Given the description of an element on the screen output the (x, y) to click on. 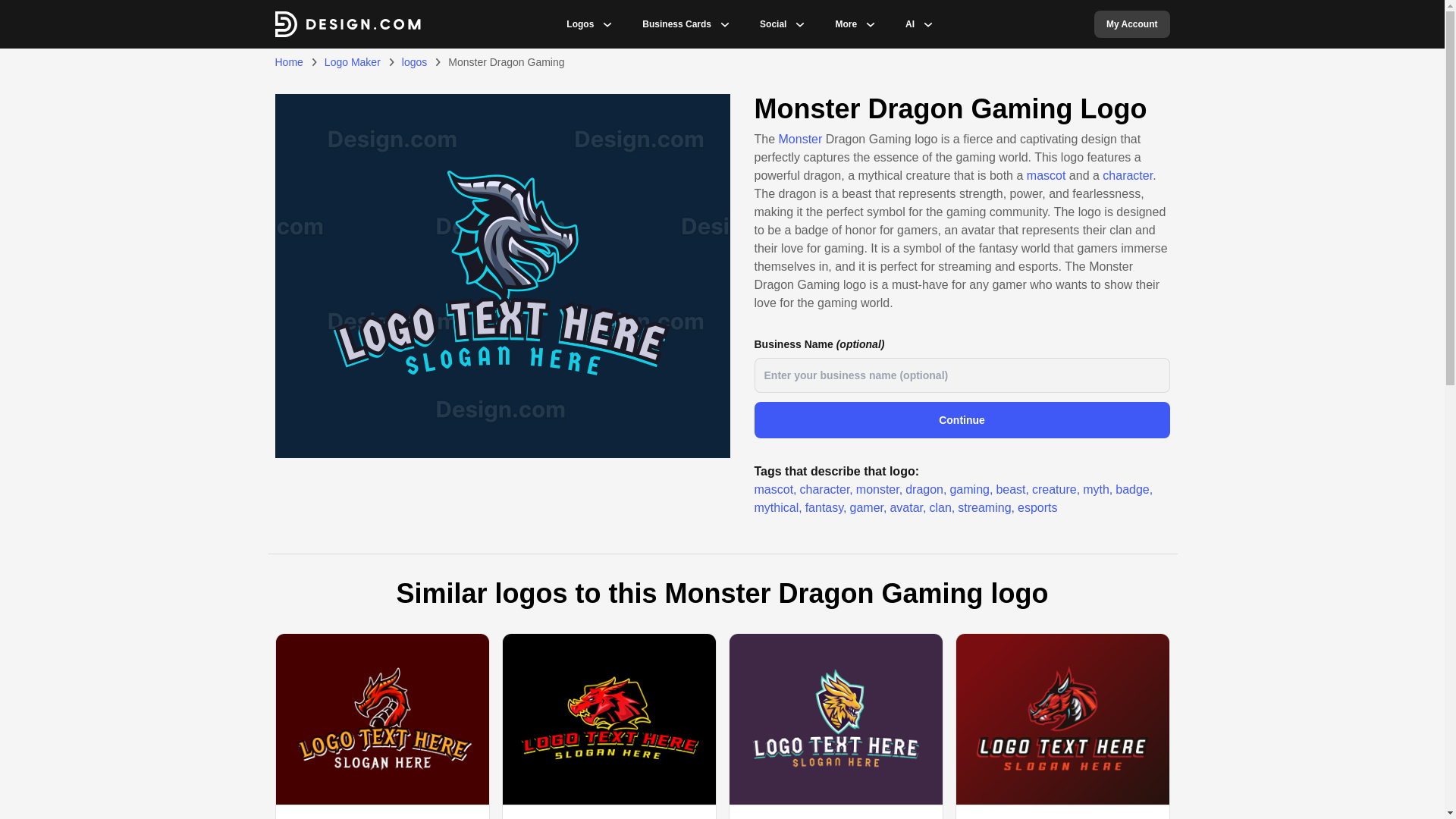
Logos (580, 24)
Site Logo (347, 24)
